Given the description of an element on the screen output the (x, y) to click on. 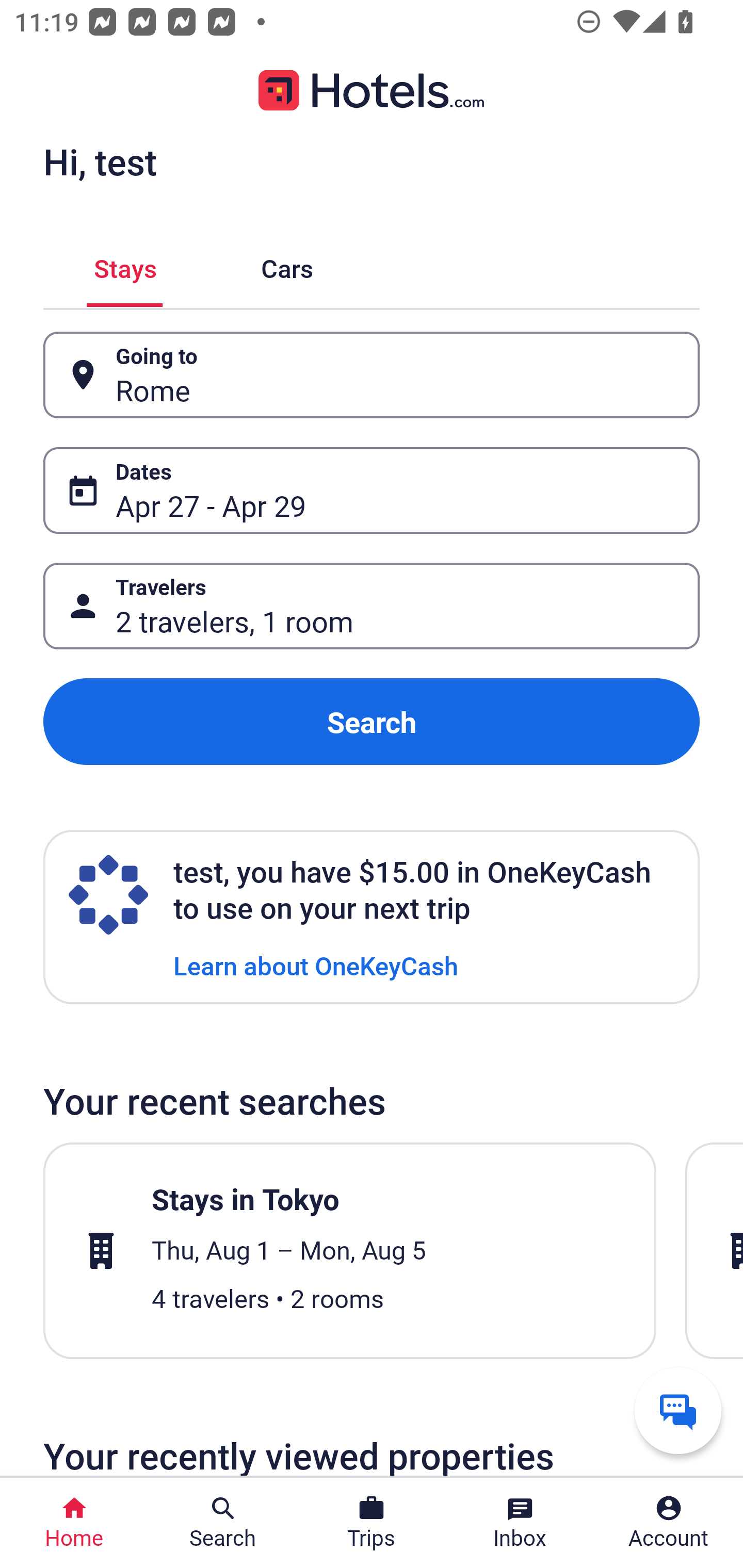
Hi, test (99, 161)
Cars (286, 265)
Going to Button Rome (371, 375)
Dates Button Apr 27 - Apr 29 (371, 489)
Travelers Button 2 travelers, 1 room (371, 605)
Search (371, 721)
Learn about OneKeyCash Learn about OneKeyCash Link (315, 964)
Get help from a virtual agent (677, 1410)
Search Search Button (222, 1522)
Trips Trips Button (371, 1522)
Inbox Inbox Button (519, 1522)
Account Profile. Button (668, 1522)
